Given the description of an element on the screen output the (x, y) to click on. 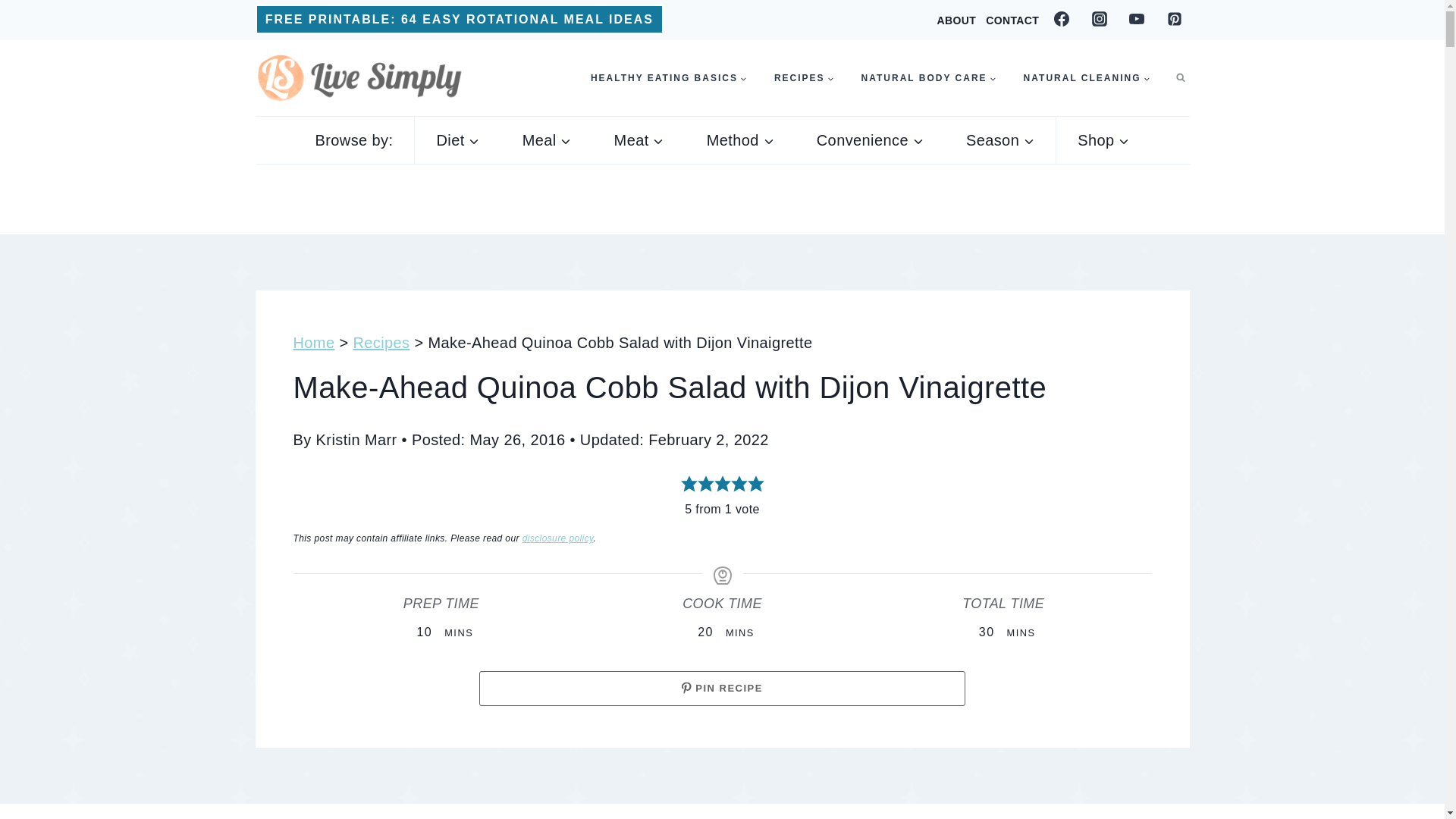
RECIPES (803, 78)
HEALTHY EATING BASICS (668, 78)
CONTACT (1012, 20)
FREE PRINTABLE: 64 EASY ROTATIONAL MEAL IDEAS (458, 19)
ABOUT (955, 20)
Recipes (803, 78)
